Given the description of an element on the screen output the (x, y) to click on. 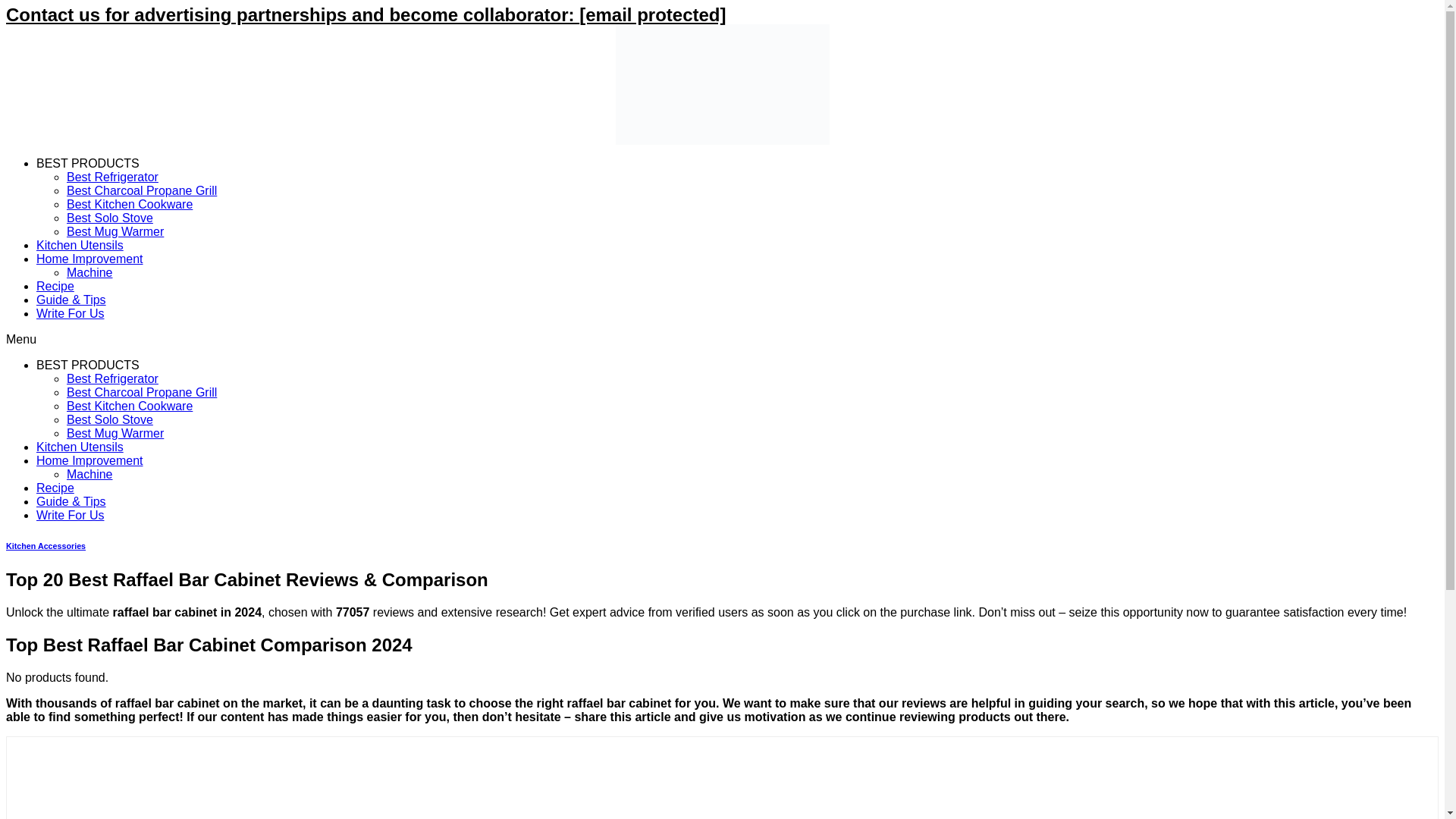
Home Improvement (89, 258)
Home Improvement (89, 460)
Recipe (55, 286)
Machine (89, 272)
Write For Us (69, 514)
Best Solo Stove (109, 419)
Recipe (55, 487)
BEST PRODUCTS (87, 163)
BEST PRODUCTS (87, 364)
Best Kitchen Cookware (129, 204)
